Given the description of an element on the screen output the (x, y) to click on. 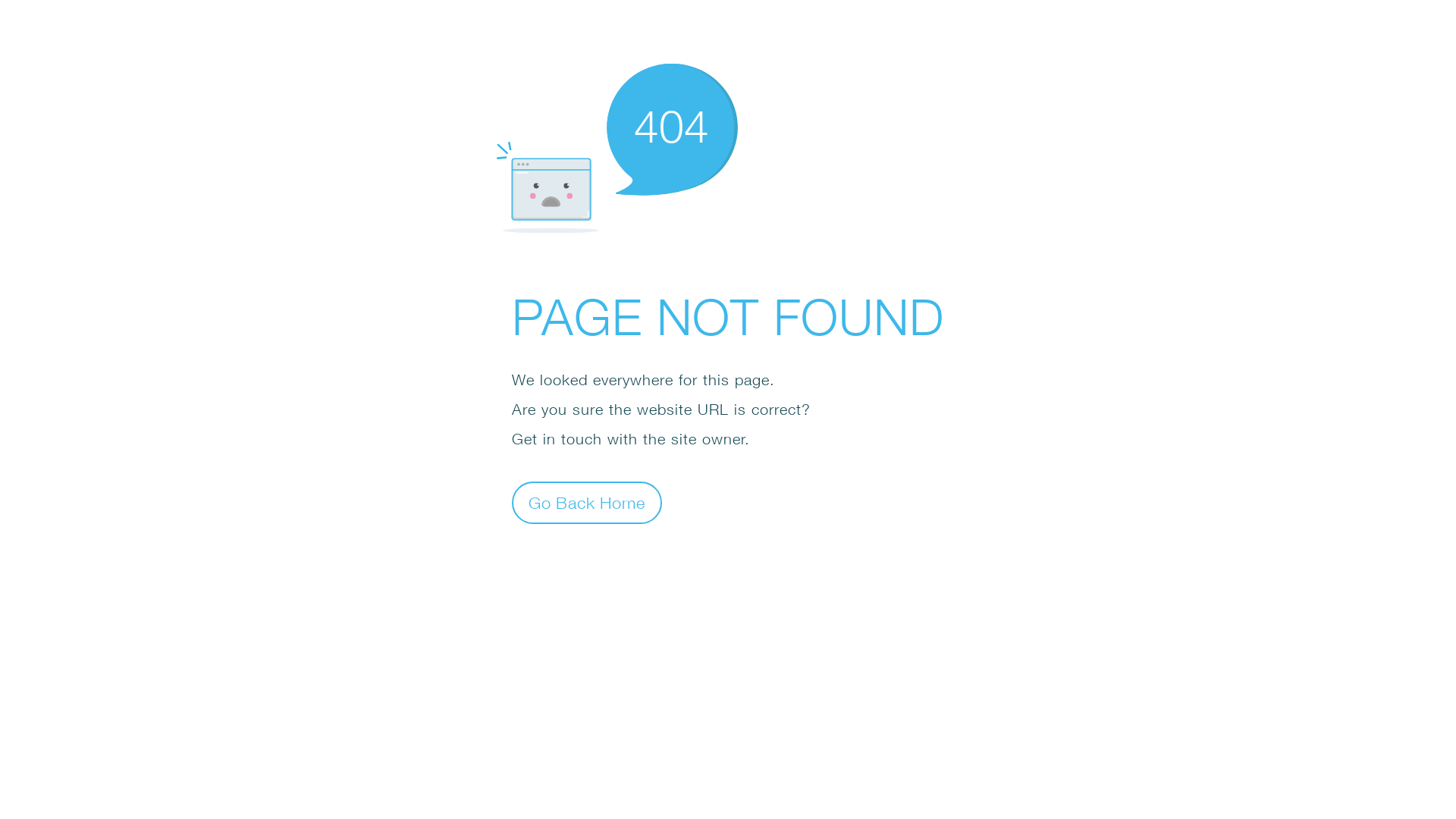
Go Back Home Element type: text (586, 502)
